Given the description of an element on the screen output the (x, y) to click on. 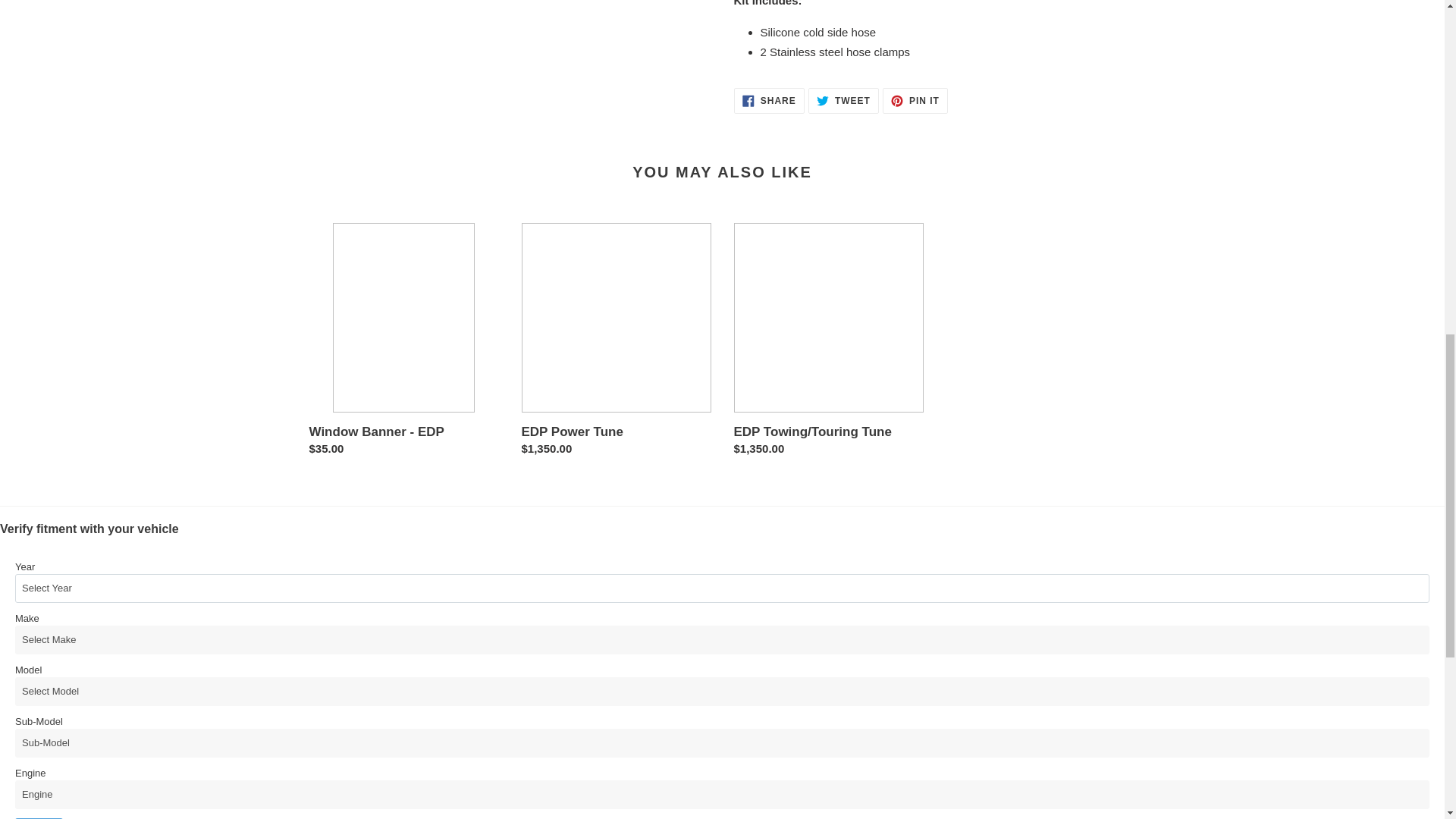
Verify (843, 100)
